Given the description of an element on the screen output the (x, y) to click on. 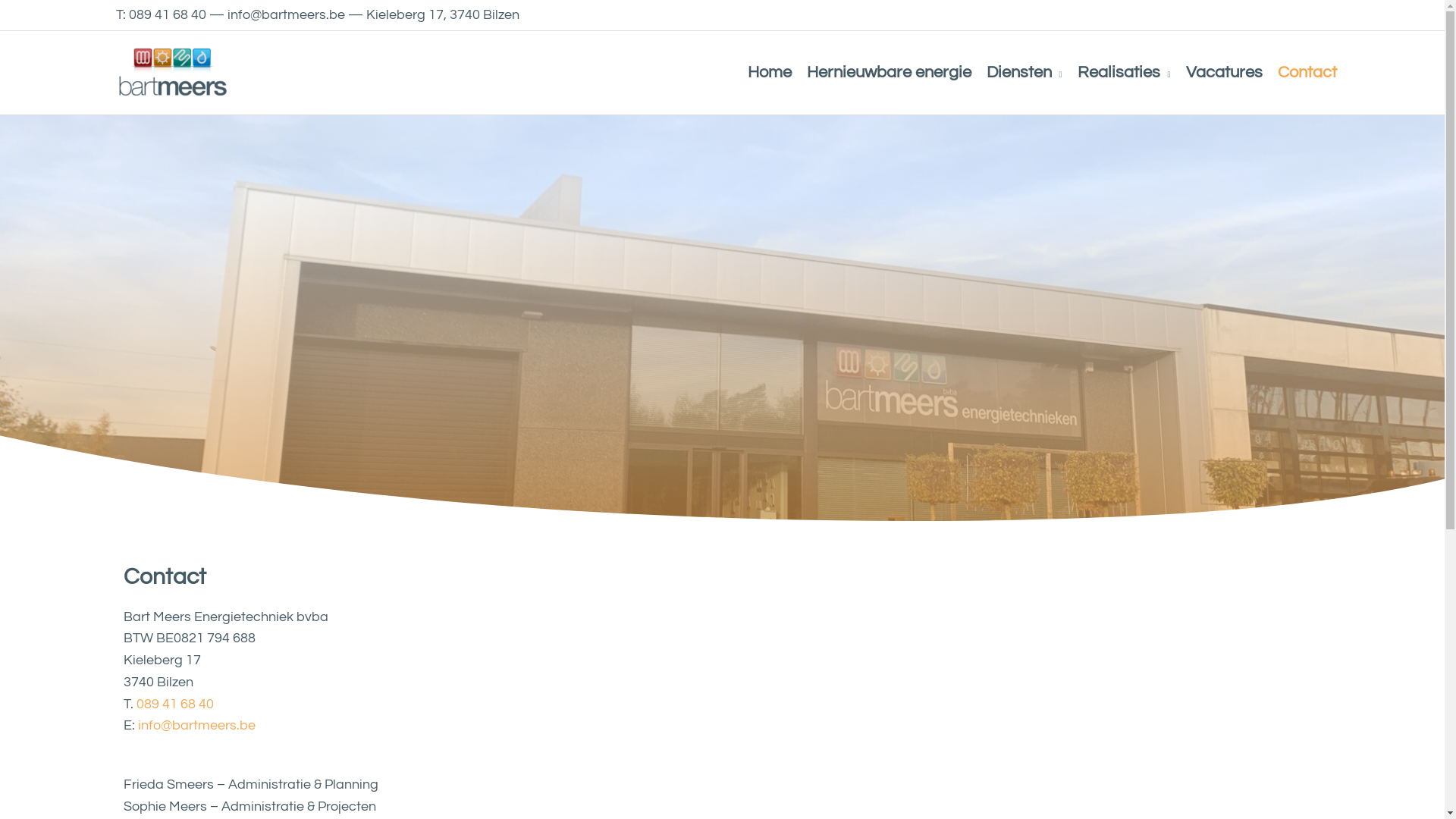
Diensten Element type: text (1024, 72)
Hernieuwbare energie Element type: text (889, 72)
Home Element type: text (769, 72)
Contact Element type: text (1306, 72)
info@bartmeers.be Element type: text (196, 725)
Realisaties Element type: text (1124, 72)
Vacatures Element type: text (1224, 72)
089 41 68 40 Element type: text (174, 703)
